Given the description of an element on the screen output the (x, y) to click on. 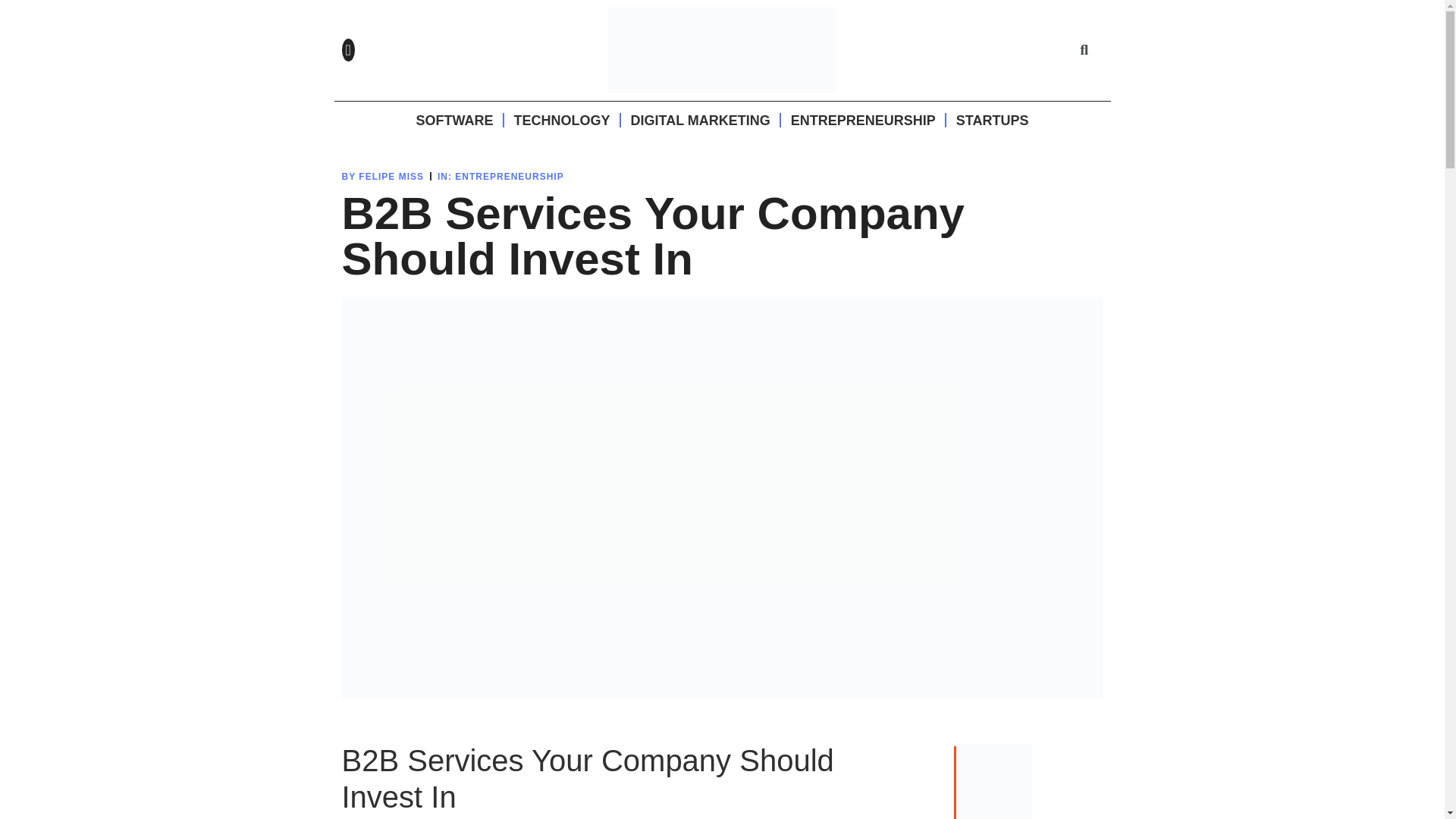
BY FELIPE MISS (381, 176)
SOFTWARE (453, 120)
ENTREPRENEURSHIP (863, 120)
DIGITAL MARKETING (700, 120)
TECHNOLOGY (561, 120)
STARTUPS (992, 120)
ENTREPRENEURSHIP (508, 176)
